Given the description of an element on the screen output the (x, y) to click on. 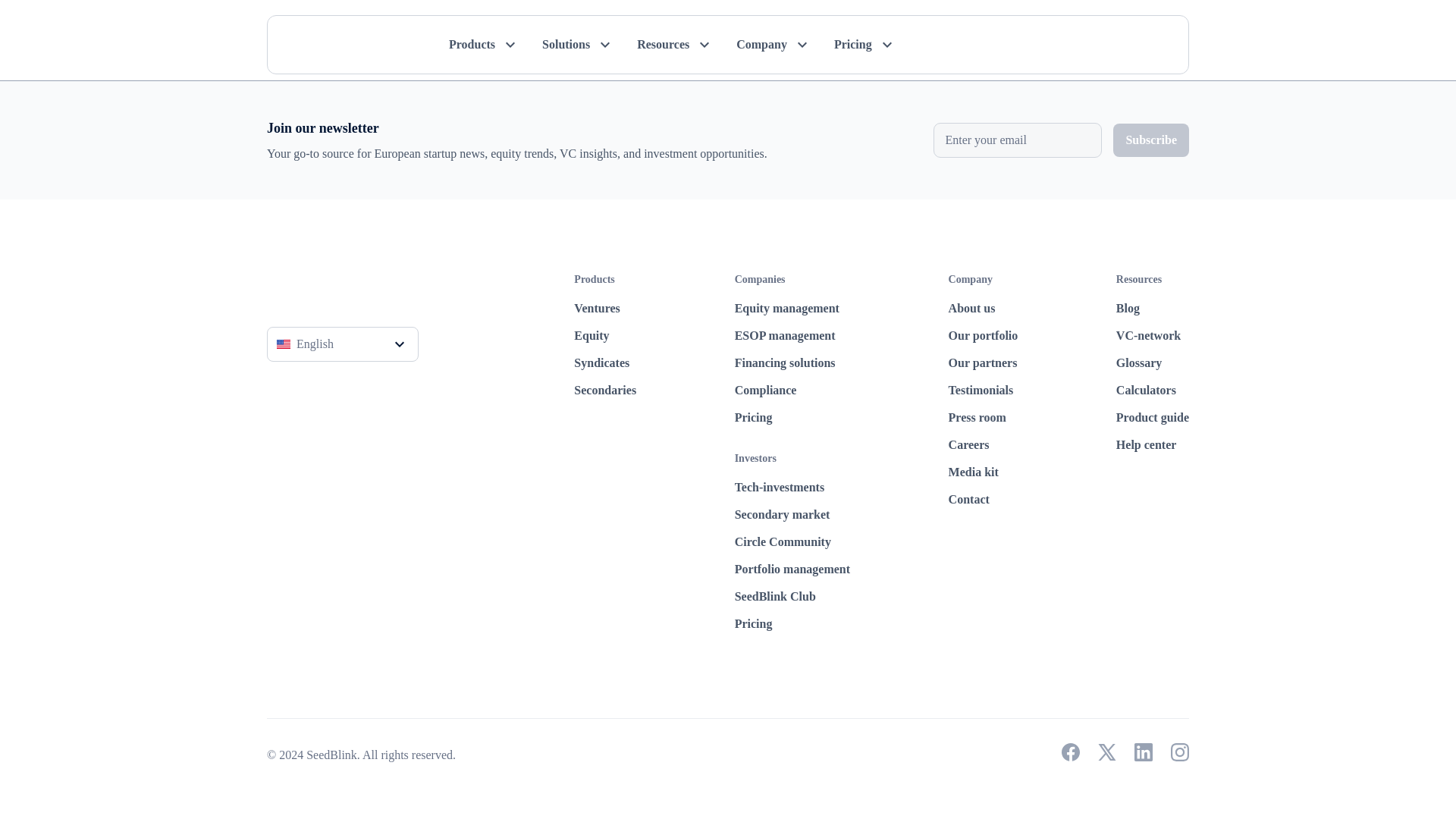
Equity (604, 335)
Circle Community (792, 542)
SeedBlink (316, 283)
Pricing (792, 417)
Careers (983, 444)
Press room (983, 417)
About us (983, 308)
Equity management (792, 308)
Compliance (792, 390)
Our partners (983, 362)
